Given the description of an element on the screen output the (x, y) to click on. 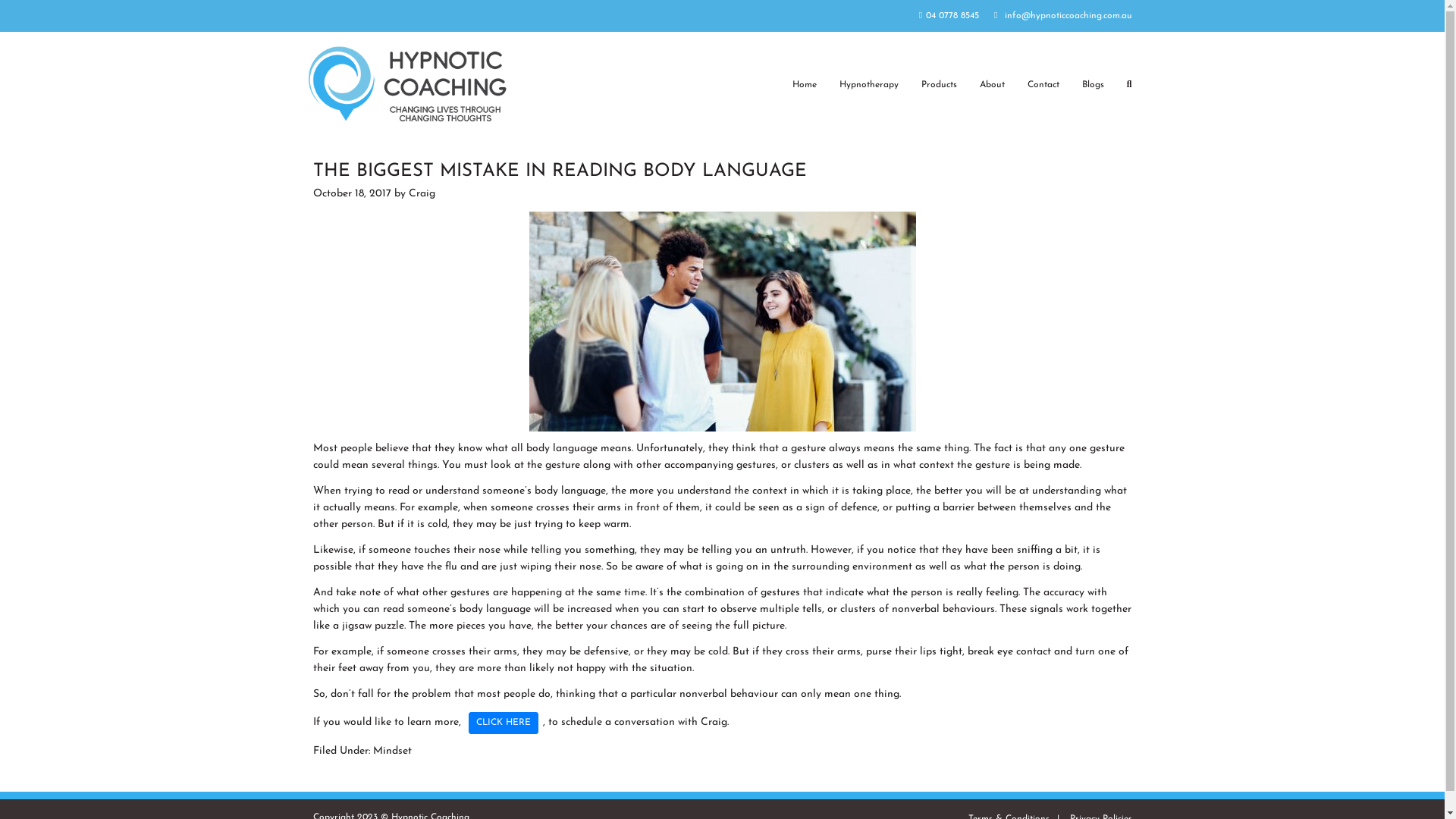
Home Element type: text (804, 85)
Craig Element type: text (420, 193)
Contact Element type: text (1043, 85)
Blogs Element type: text (1093, 85)
04 0778 8545 Element type: text (949, 15)
About Element type: text (991, 85)
Hypnotherapy Element type: text (868, 85)
info@hypnoticcoaching.com.au Element type: text (1062, 15)
Mindset Element type: text (392, 750)
Products Element type: text (939, 85)
CLICK HERE Element type: text (503, 723)
